Given the description of an element on the screen output the (x, y) to click on. 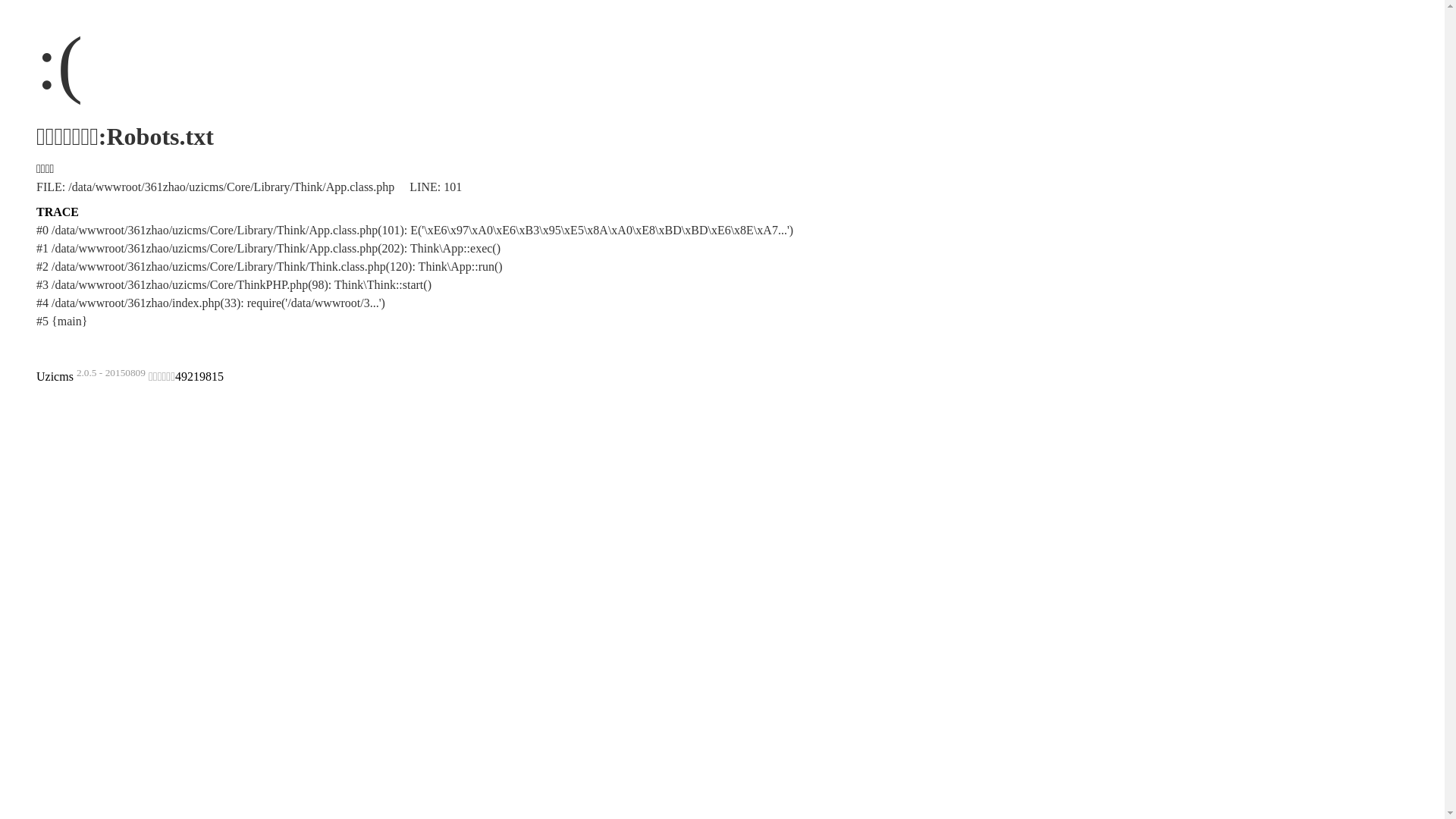
49219815 Element type: text (199, 376)
Uzicms Element type: text (54, 376)
